Given the description of an element on the screen output the (x, y) to click on. 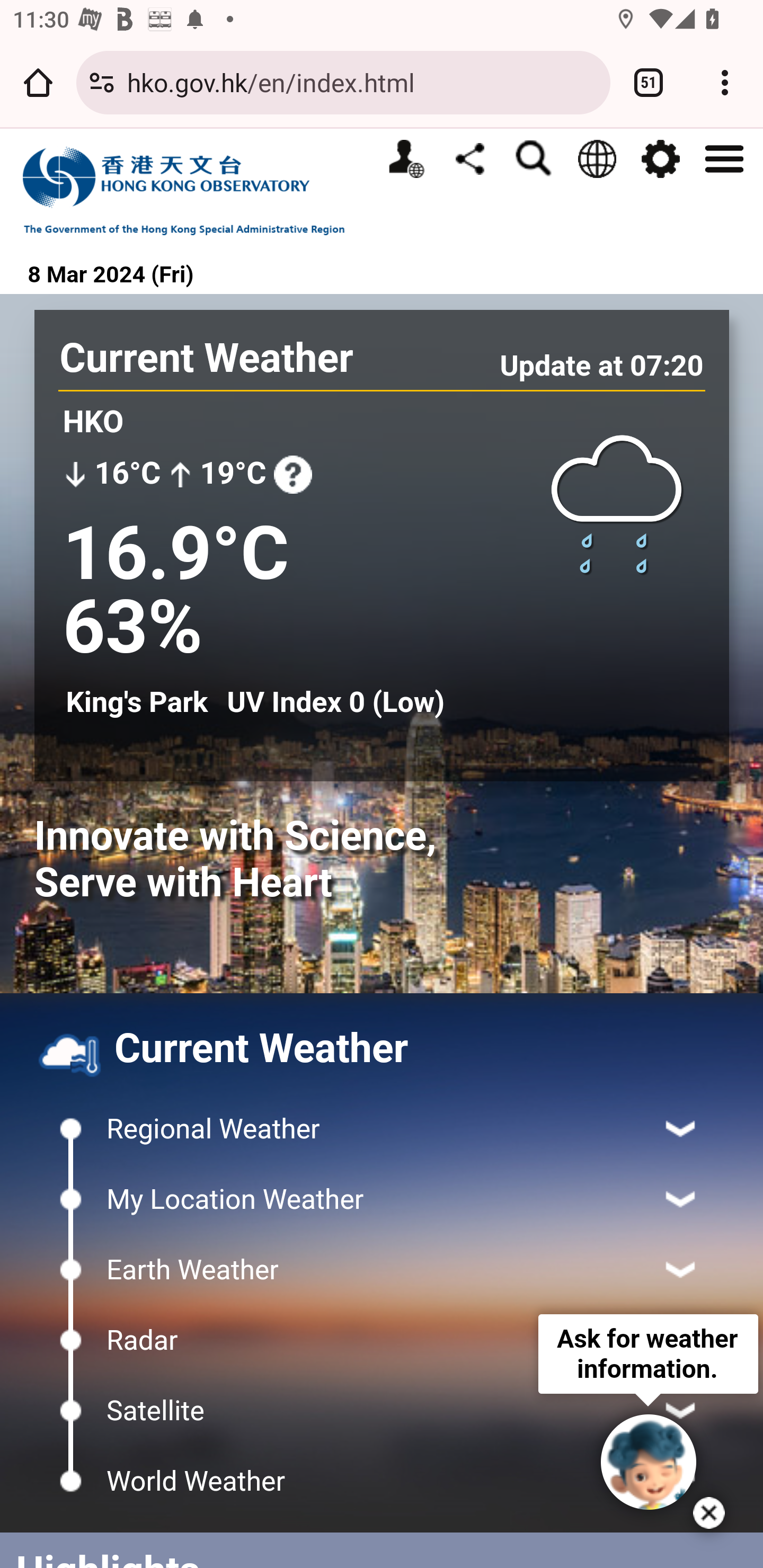
Open the home page (38, 82)
Connection is secure (101, 82)
Switch or close tabs (648, 82)
Customize and control Google Chrome (724, 82)
hko.gov.hk/en/index.html (362, 82)
Hong Kong Observatory (192, 190)
Personalized Website Personalized Website (405, 159)
Search Search (533, 159)
Language Language (596, 159)
Setting Setting (659, 159)
Share Share (469, 158)
Menu Menu (723, 157)
Current Weather (206, 357)
Light Rain (617, 503)
Help (292, 473)
UV Index 0 (Low) (334, 702)
Regional Weather (381, 1128)
My Location Weather (381, 1199)
Earth Weather (381, 1269)
Radar (381, 1340)
Satellite (381, 1410)
Chat with Dr. Tin (648, 1461)
World Weather (381, 1480)
Close (708, 1512)
